Given the description of an element on the screen output the (x, y) to click on. 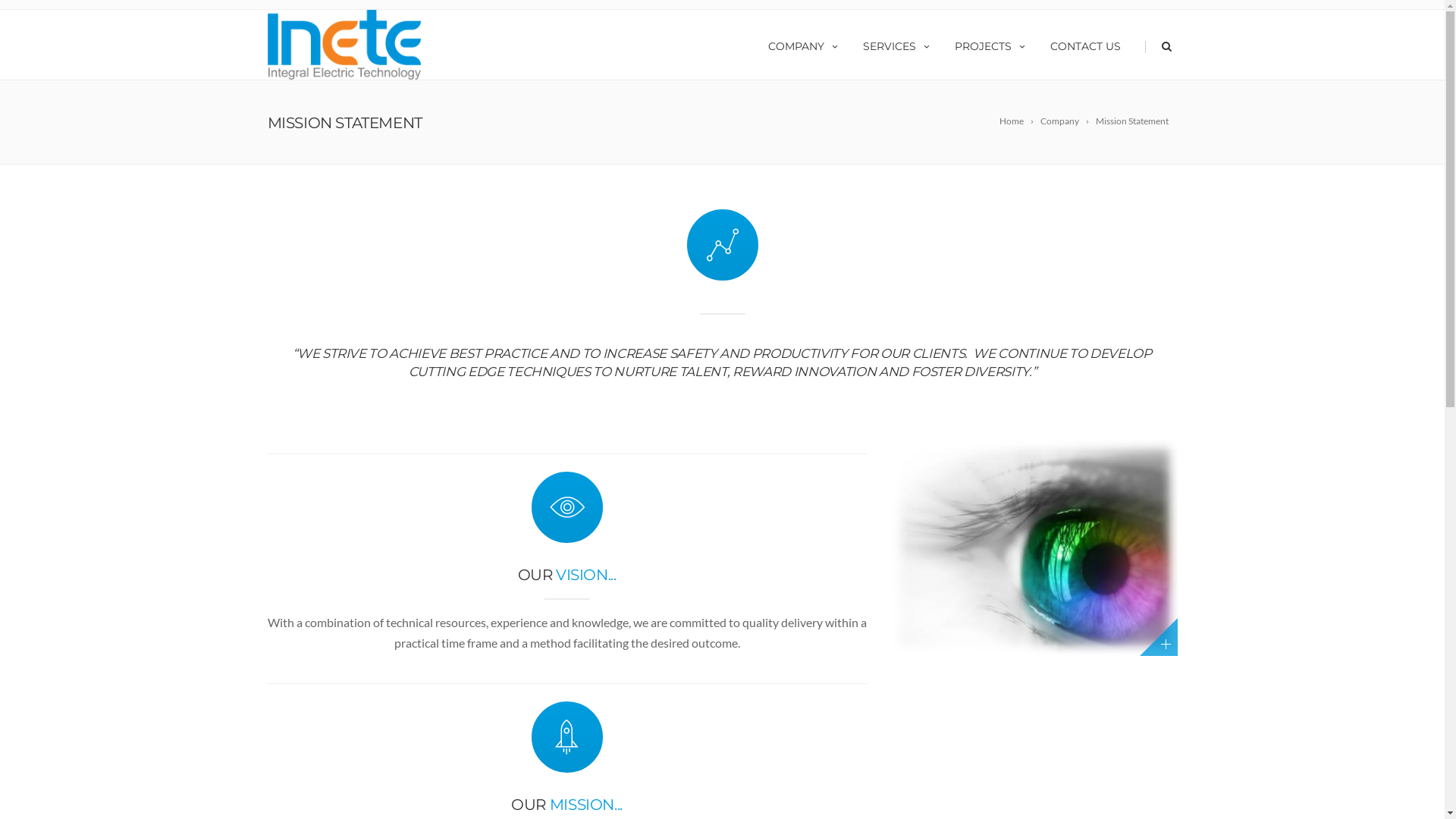
Mission Statement Element type: text (1133, 120)
Home Element type: text (1017, 120)
Company Element type: text (1065, 120)
PROJECTS Element type: text (990, 44)
| Element type: text (1140, 44)
COMPANY Element type: text (803, 44)
SERVICES Element type: text (896, 44)
CONTACT US Element type: text (1085, 44)
